Given the description of an element on the screen output the (x, y) to click on. 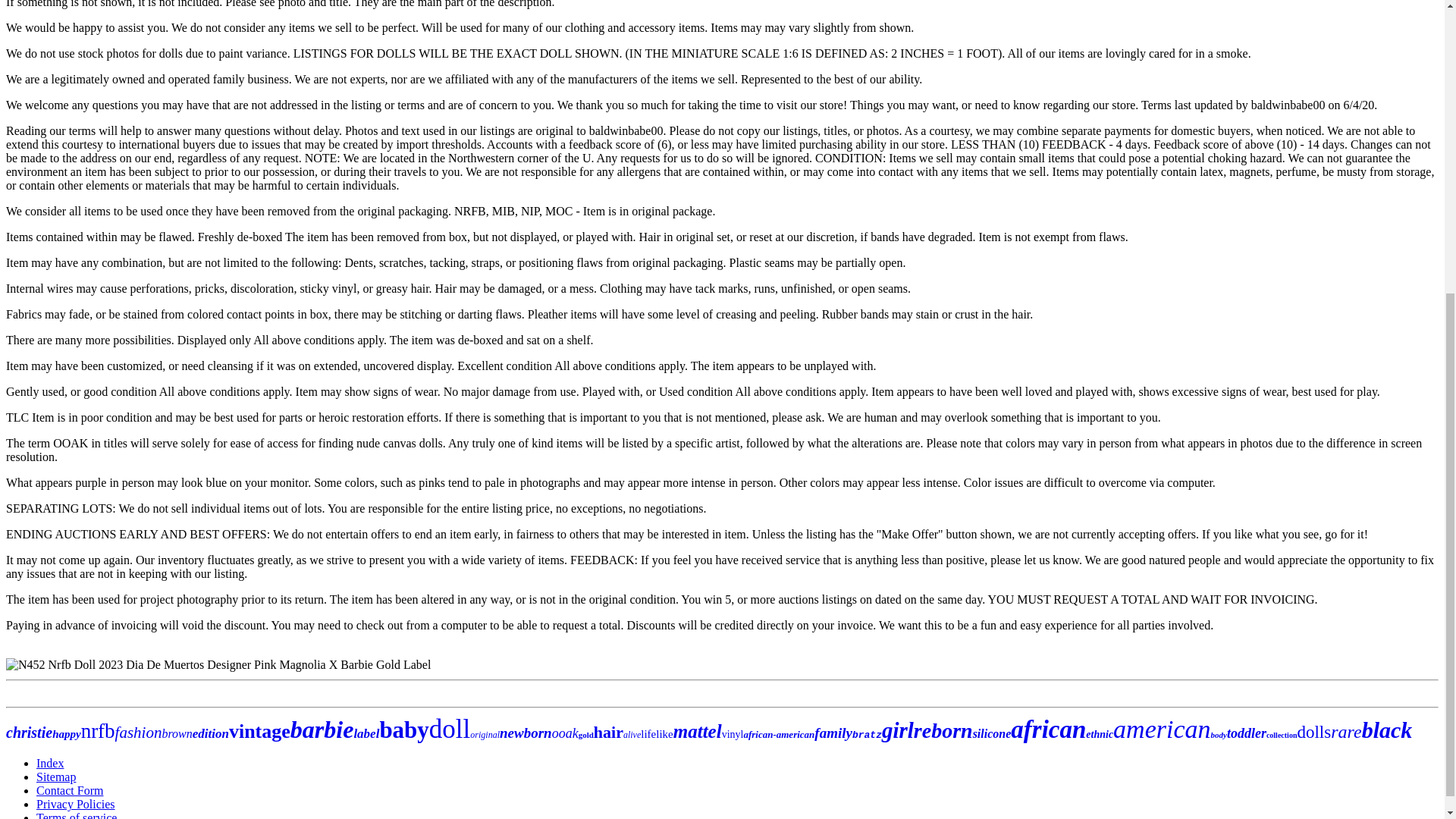
vinyl (733, 734)
alive (631, 734)
hair (608, 732)
silicone (991, 733)
newborn (525, 732)
brown (176, 733)
african (1048, 728)
happy (66, 734)
original (484, 734)
fashion (138, 732)
bratz (866, 735)
baby (403, 729)
christie (28, 732)
girl (898, 730)
mattel (697, 731)
